Given the description of an element on the screen output the (x, y) to click on. 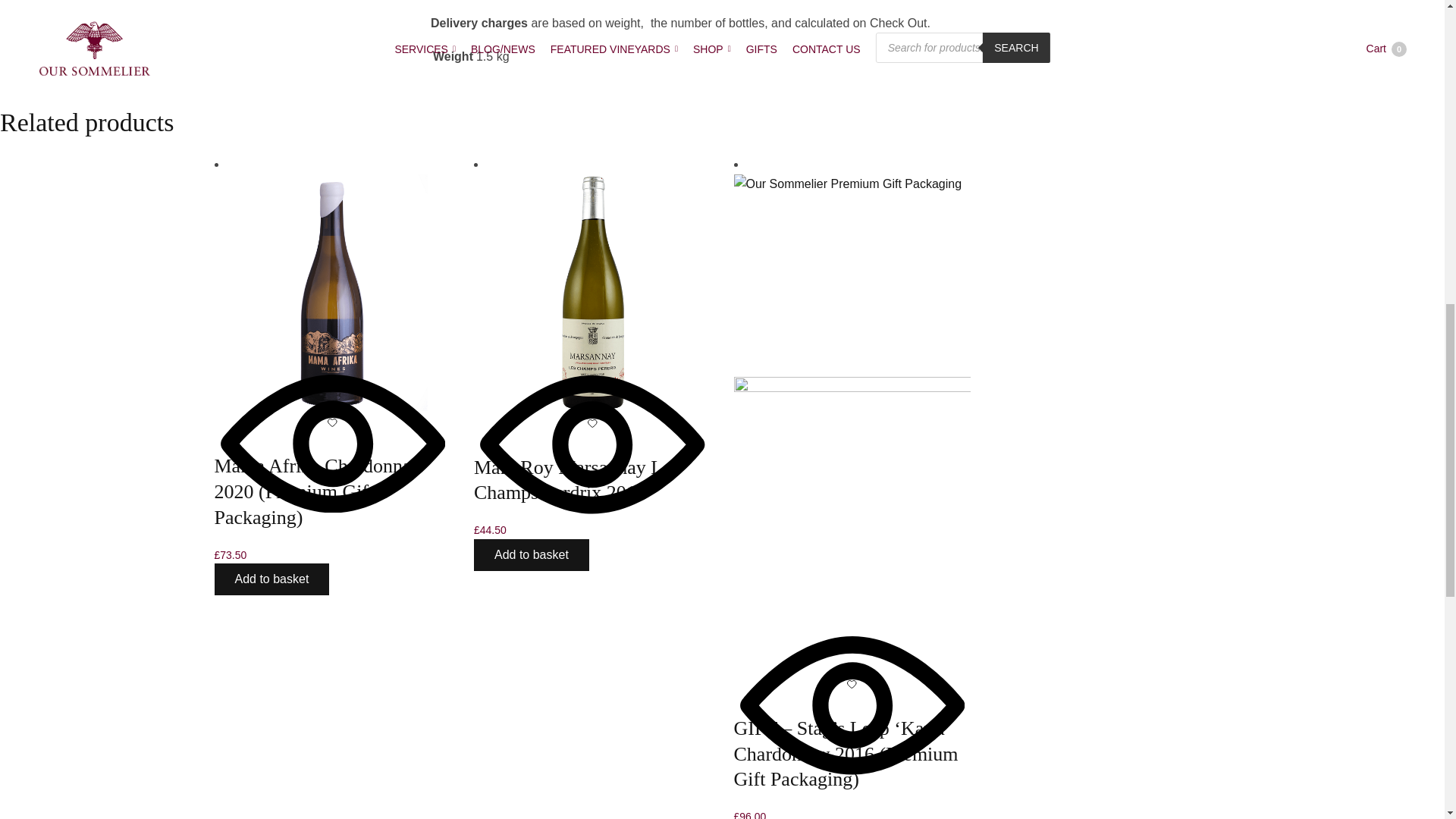
Marc Roy Marsannay Les Champs Perdrix 2018 (592, 291)
Marc Roy Marsannay Les Champs Perdrix 2018 (576, 480)
